Given the description of an element on the screen output the (x, y) to click on. 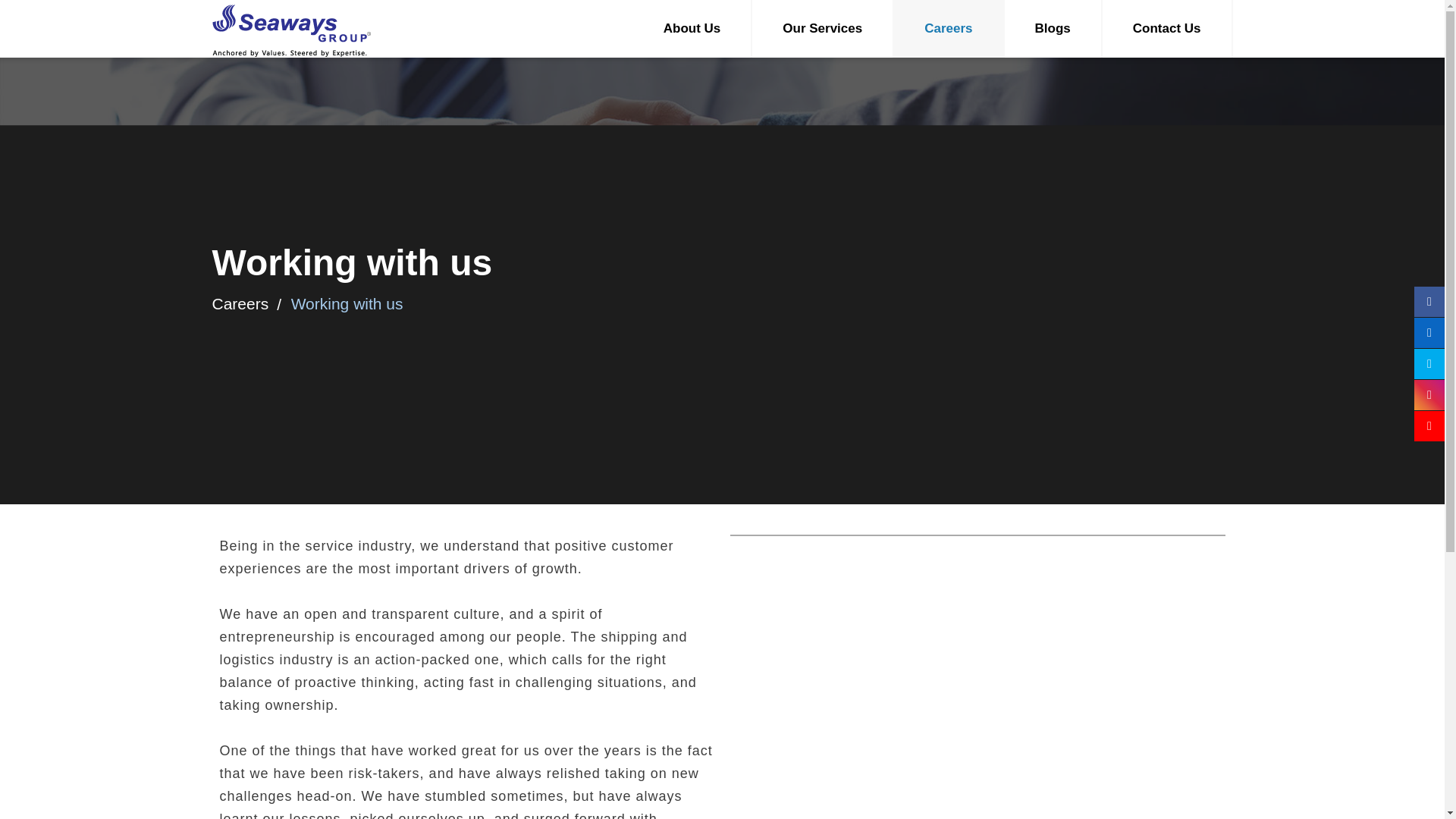
About Us (692, 28)
Blogs (1053, 28)
Our Services (822, 28)
Contact Us (1167, 28)
Careers (948, 28)
